Given the description of an element on the screen output the (x, y) to click on. 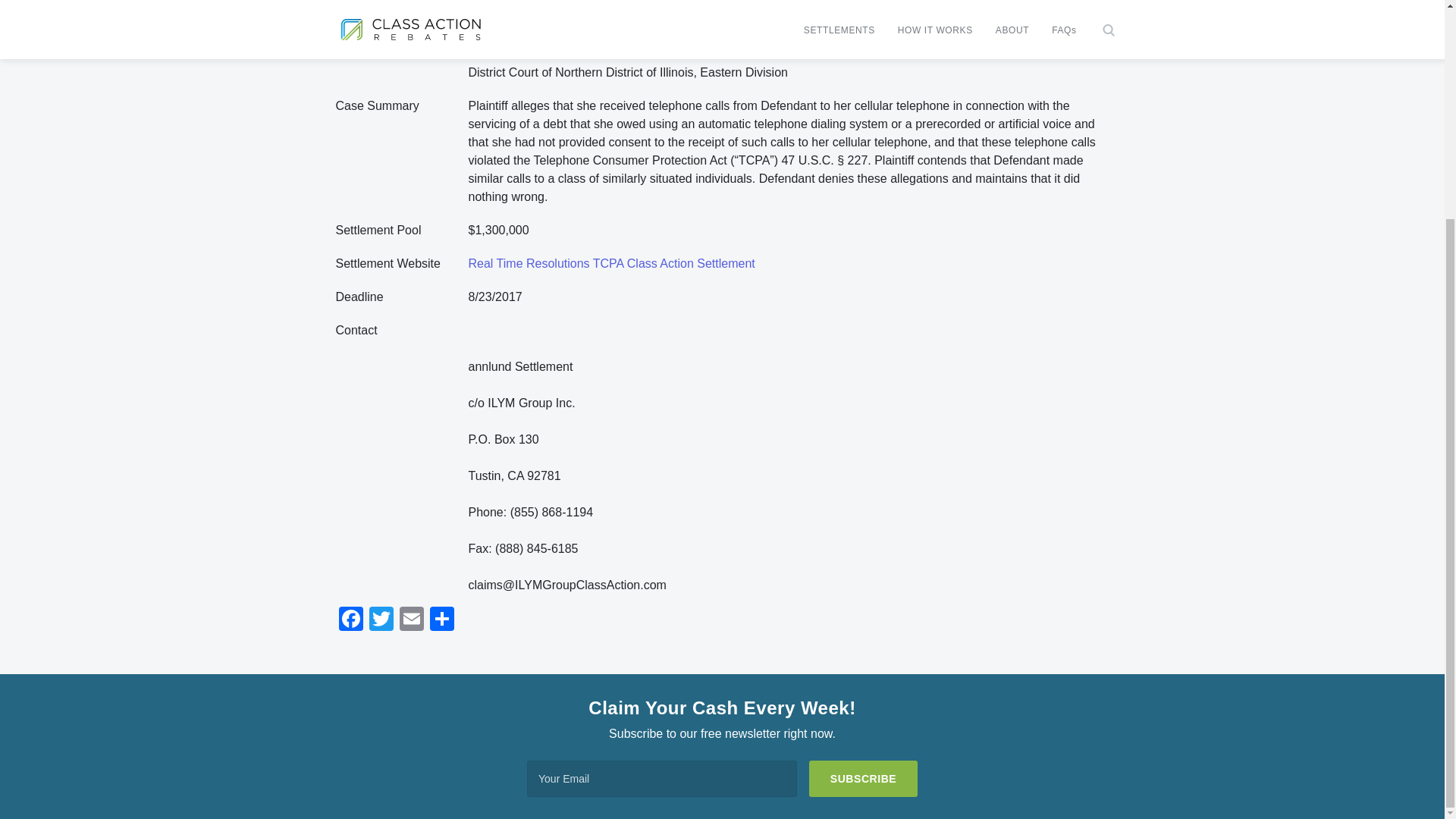
Email (411, 620)
Twitter (380, 620)
Email (411, 620)
Facebook (349, 620)
Twitter (380, 620)
SUBSCRIBE (863, 778)
Facebook (349, 620)
Click Here to Complete Your Real Time Resolutions Claim Form (640, 4)
Real Time Resolutions TCPA Class Action Settlement (611, 263)
